Given the description of an element on the screen output the (x, y) to click on. 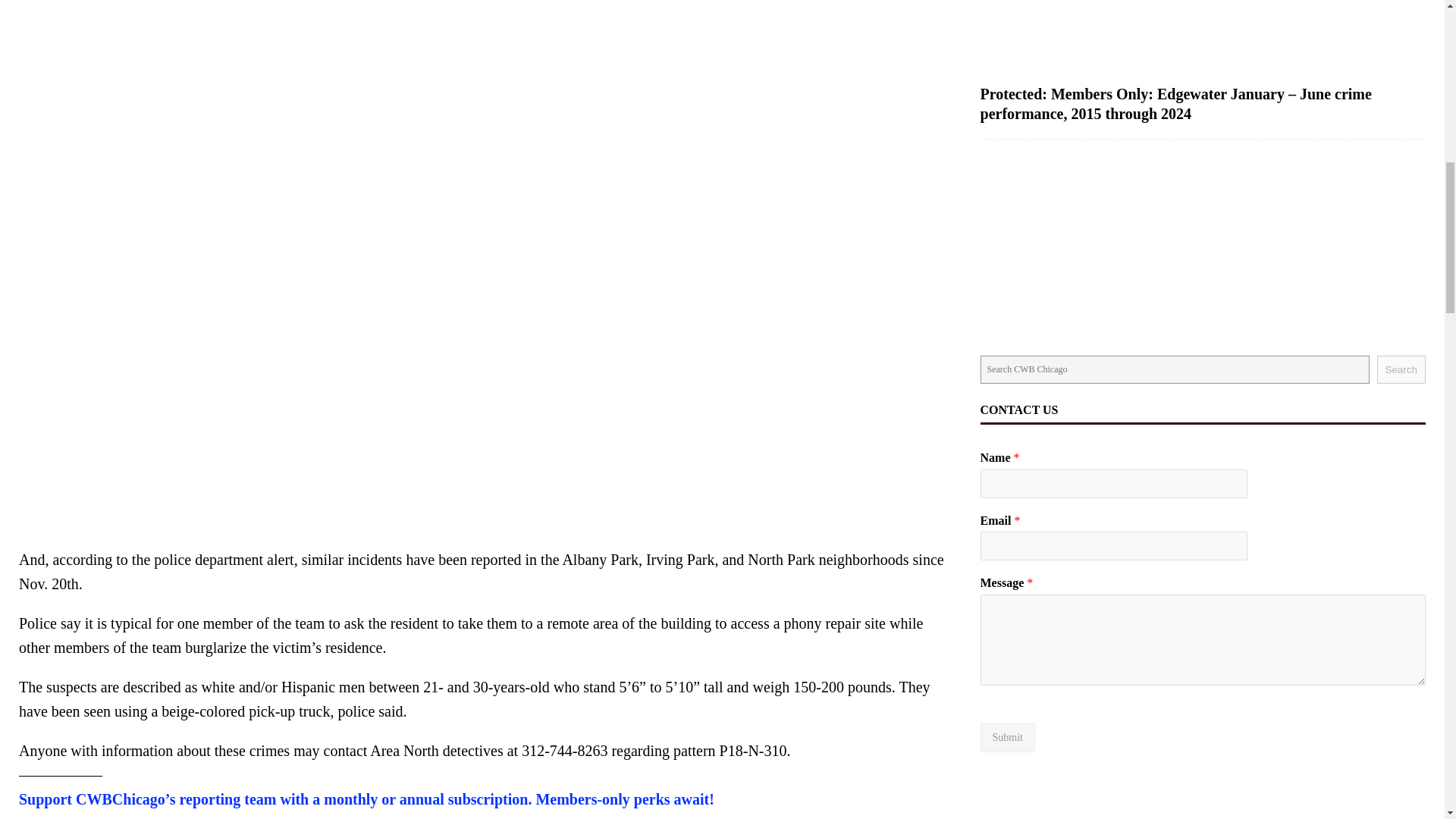
Search (1401, 369)
Submit (1007, 737)
